Given the description of an element on the screen output the (x, y) to click on. 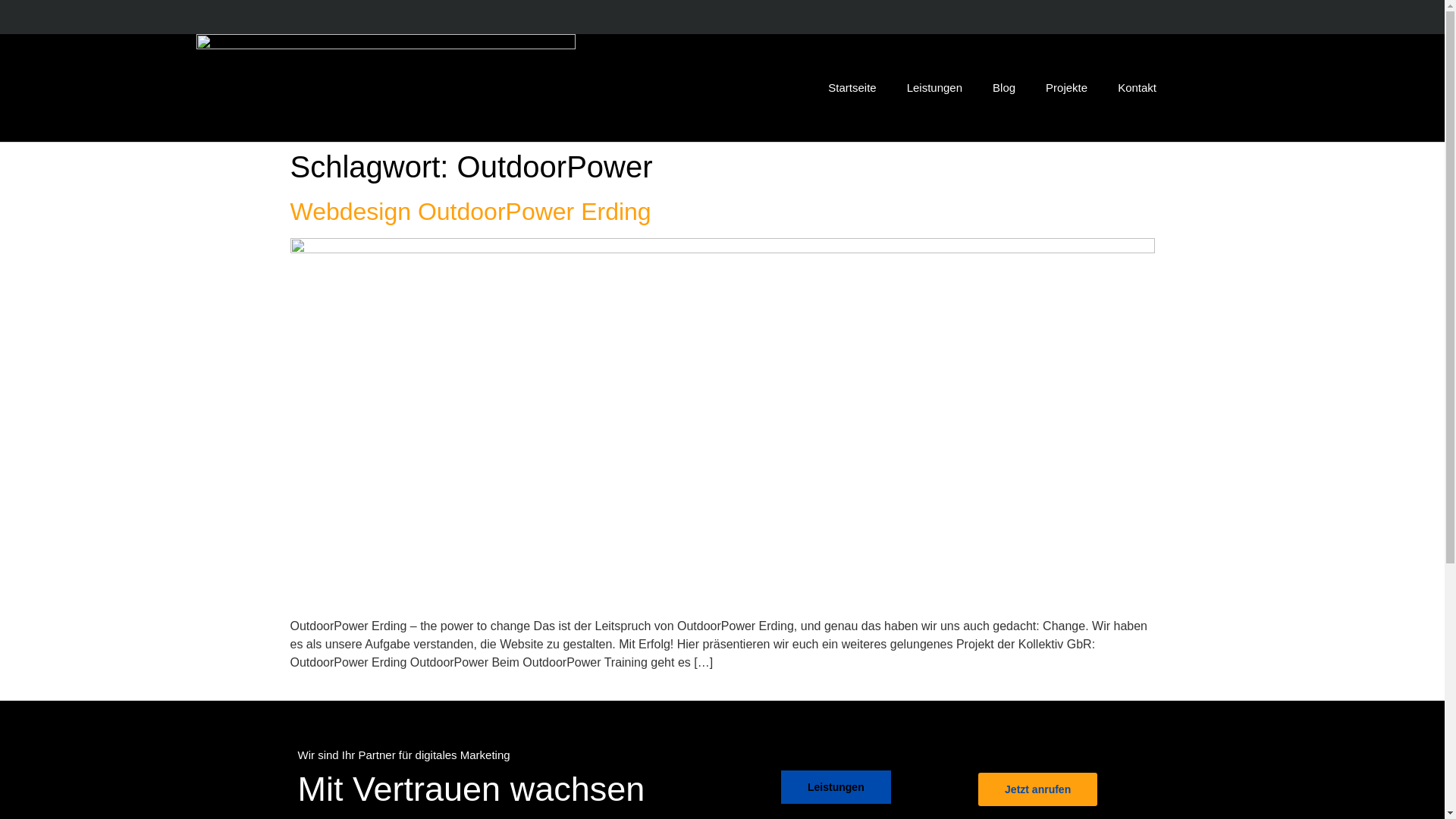
Startseite Element type: text (851, 87)
Blog Element type: text (1003, 87)
Leistungen Element type: text (934, 87)
Leistungen Element type: text (835, 787)
Jetzt anrufen Element type: text (1037, 789)
Projekte Element type: text (1066, 87)
Webdesign OutdoorPower Erding Element type: text (469, 211)
Kontakt Element type: text (1136, 87)
